Given the description of an element on the screen output the (x, y) to click on. 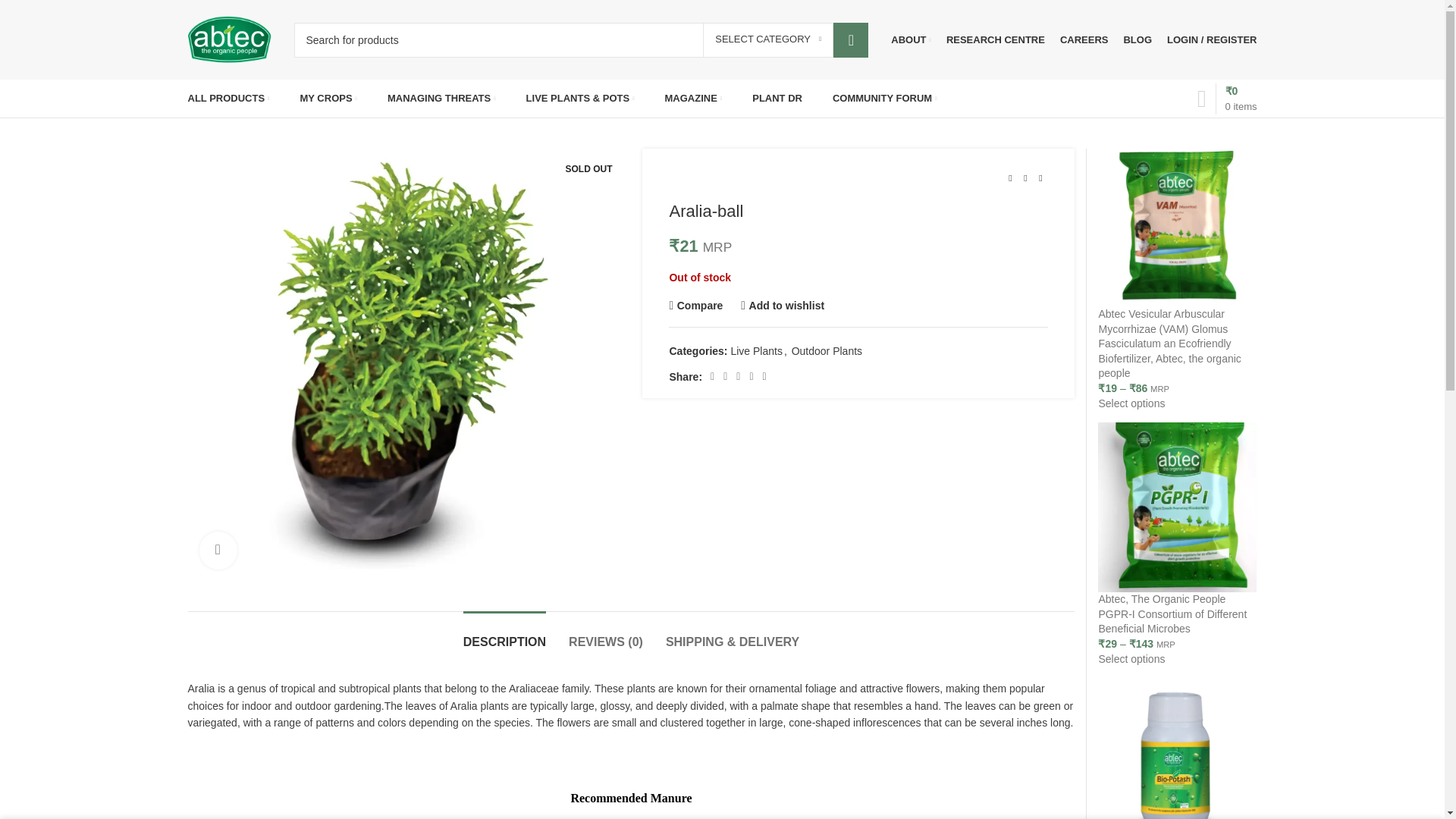
SEARCH (849, 39)
BLOG (1136, 39)
SELECT CATEGORY (767, 39)
RESEARCH CENTRE (995, 39)
Log in (1130, 281)
Shopping cart (1227, 98)
My account (1210, 39)
Search for products (581, 39)
SELECT CATEGORY (767, 39)
